Given the description of an element on the screen output the (x, y) to click on. 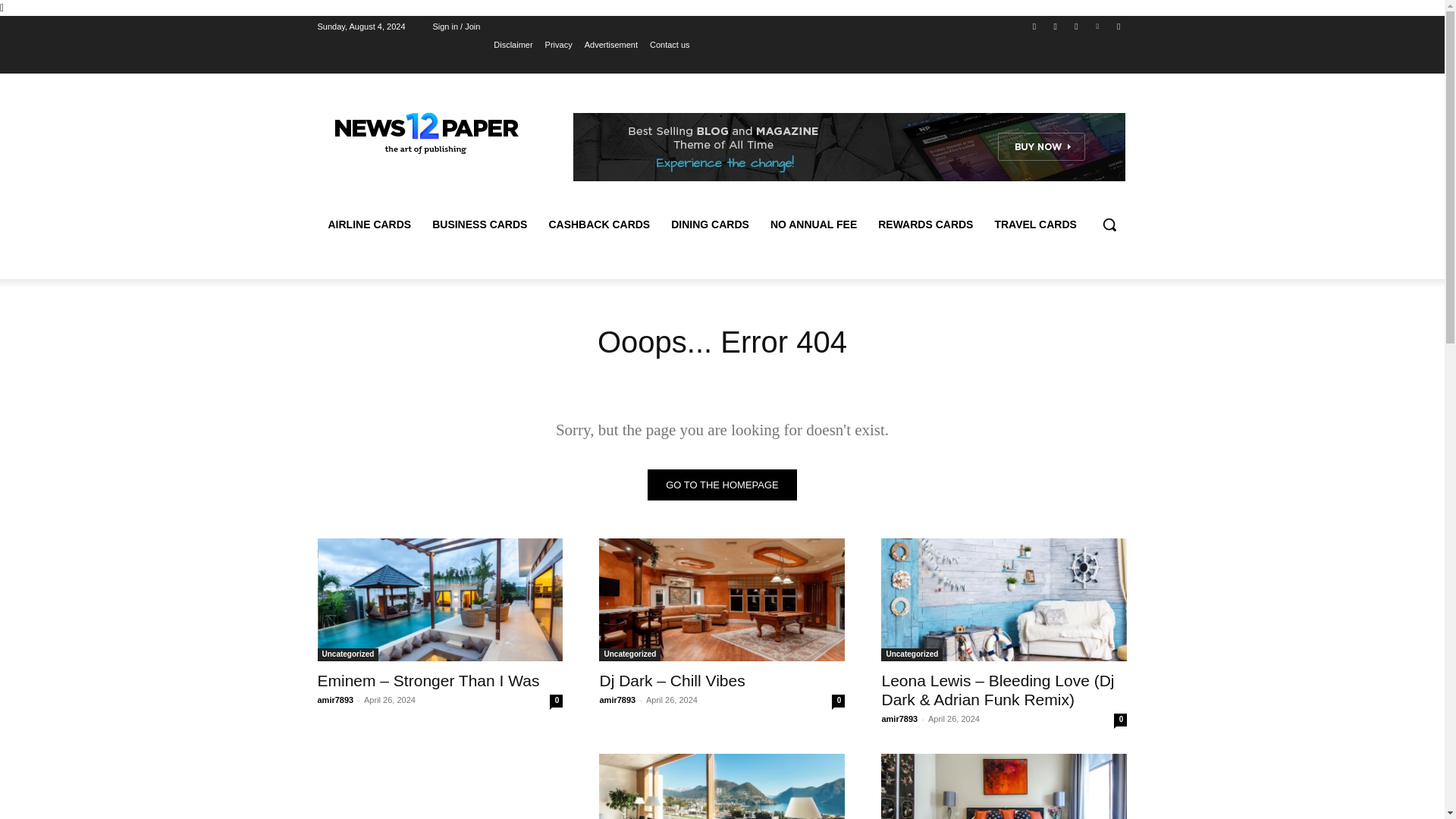
Privacy (558, 44)
AIRLINE CARDS (369, 224)
Youtube (1117, 27)
CASHBACK CARDS (599, 224)
TRAVEL CARDS (1035, 224)
GO TO THE HOMEPAGE (721, 484)
Vimeo (1097, 27)
Twitter (1075, 27)
Instagram (1055, 27)
Contact us (669, 44)
Advertisement (611, 44)
Disclaimer (512, 44)
NO ANNUAL FEE (813, 224)
Go to the homepage (721, 484)
Facebook (1034, 27)
